Given the description of an element on the screen output the (x, y) to click on. 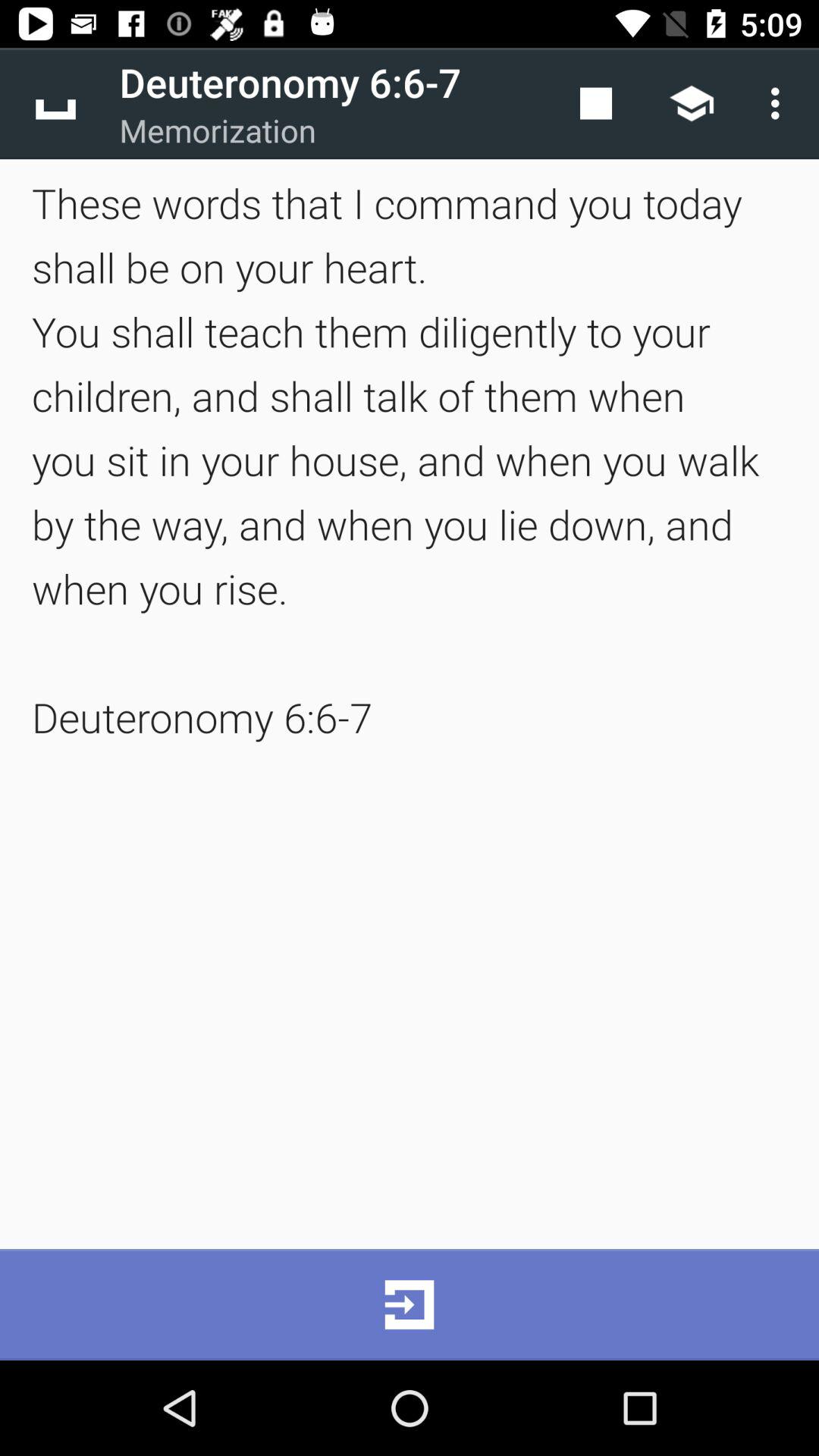
choose the item above these words that (55, 103)
